Given the description of an element on the screen output the (x, y) to click on. 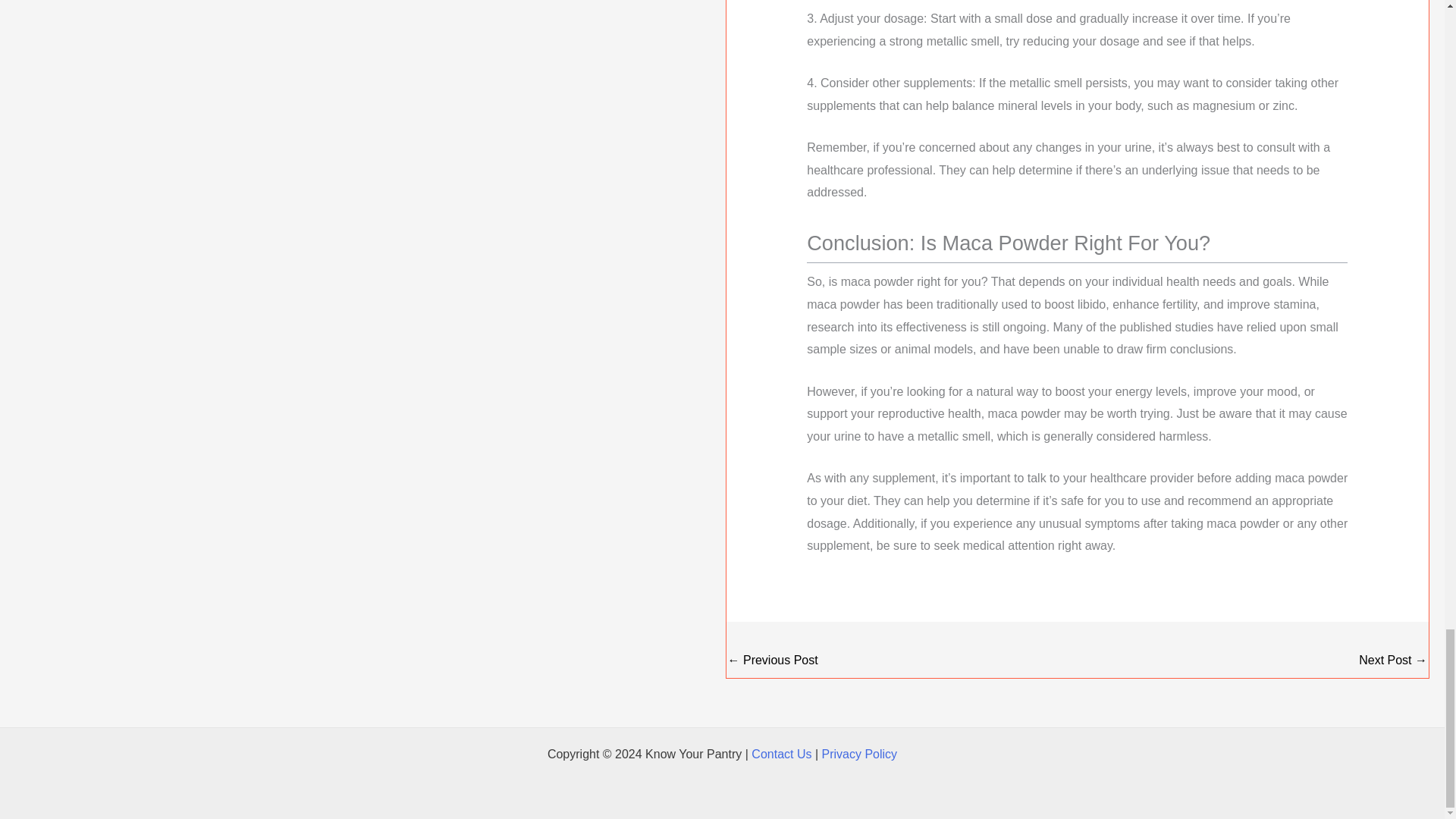
Privacy Policy (860, 753)
Does Malt Vinegar Cause Gas? Experts Explain (1392, 661)
Contact Us (780, 753)
Does Maca Powder Contain Lead? The Complete Guide (773, 661)
